Given the description of an element on the screen output the (x, y) to click on. 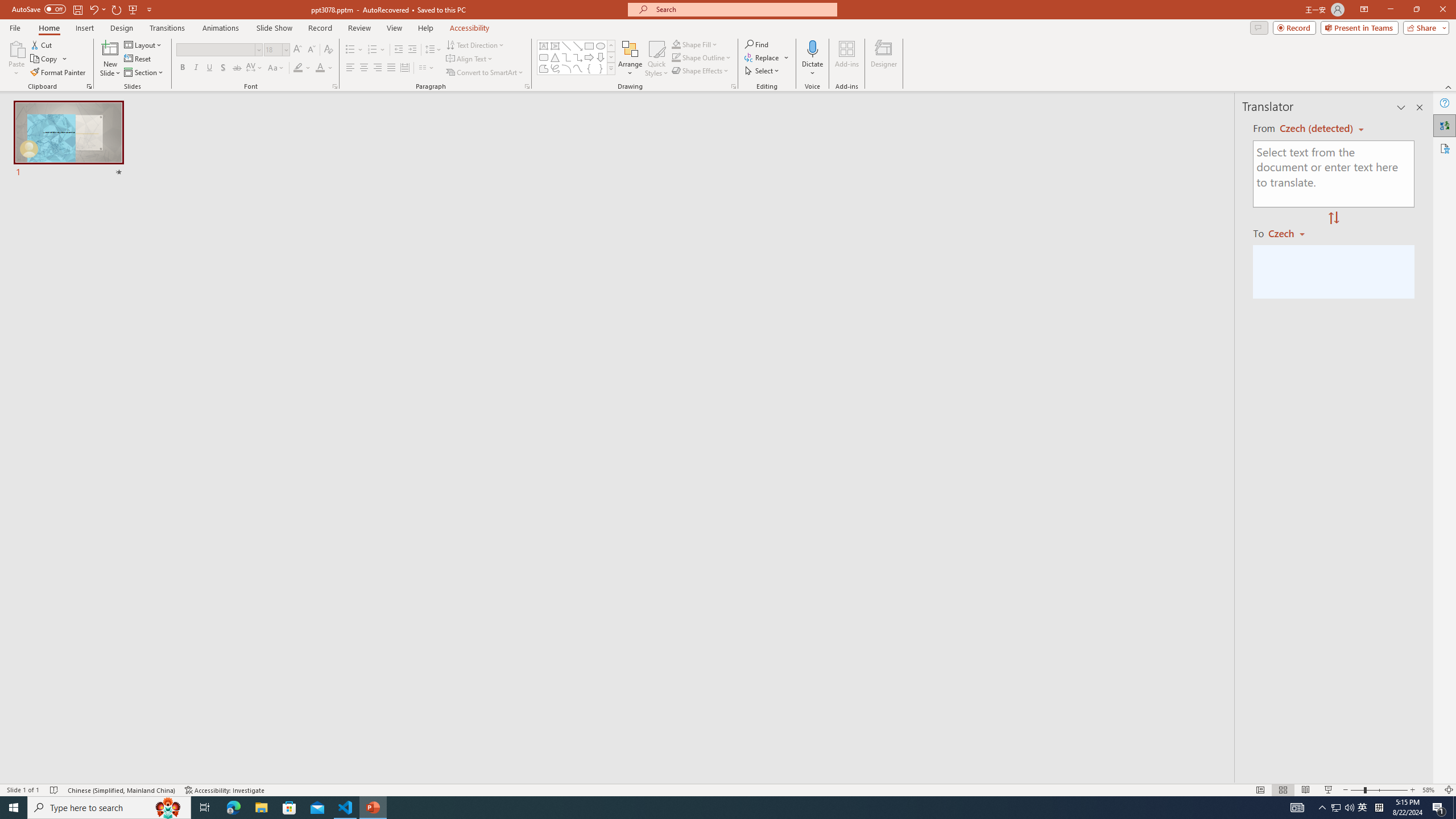
remote (69, 766)
Extensions (Ctrl+Shift+X) (76, 397)
icon (1064, 112)
Run and Debug (Ctrl+Shift+D) (76, 353)
Application Menu (76, 183)
Source Control (Ctrl+Shift+G) (76, 309)
